Given the description of an element on the screen output the (x, y) to click on. 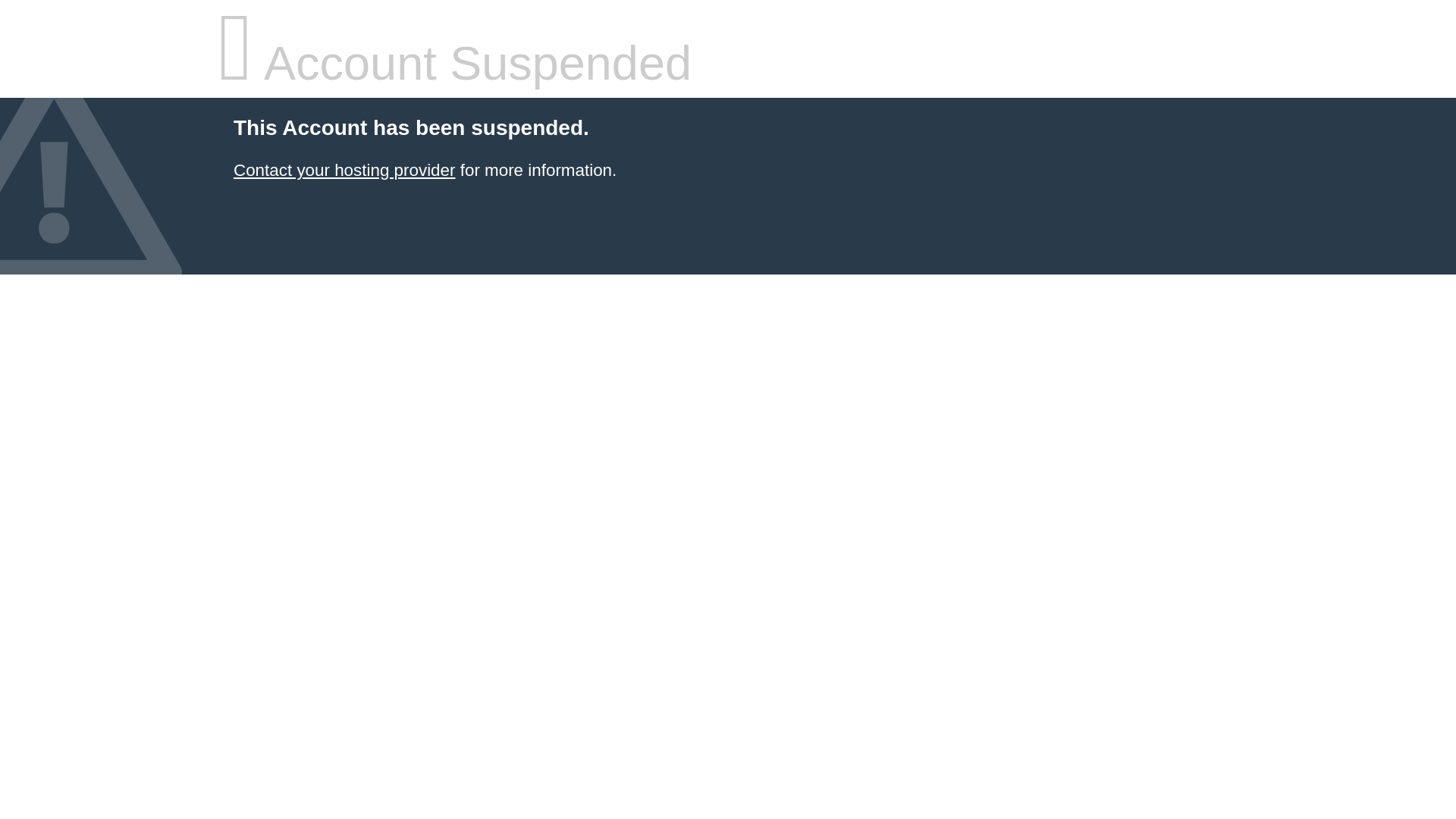
Contact your hosting provider (343, 169)
